Given the description of an element on the screen output the (x, y) to click on. 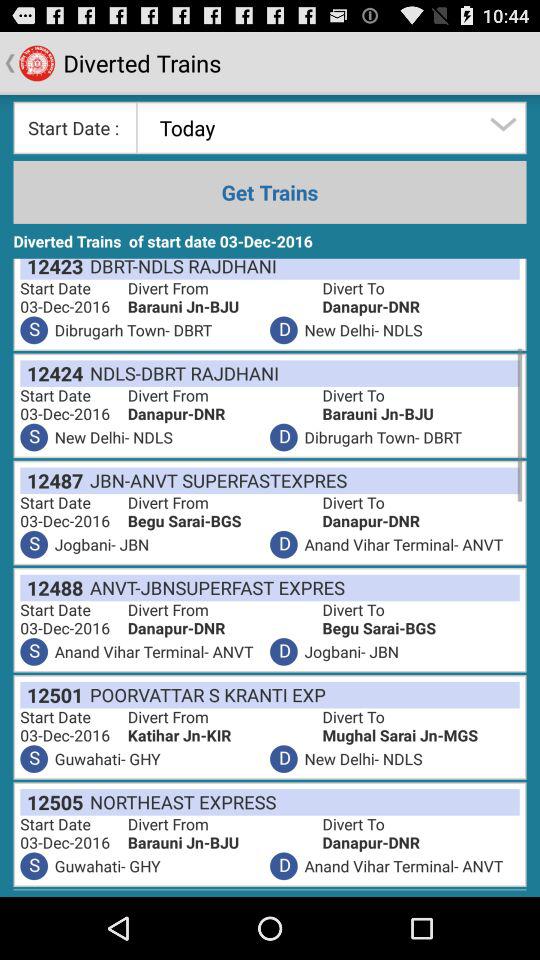
choose item above the   d item (223, 735)
